Given the description of an element on the screen output the (x, y) to click on. 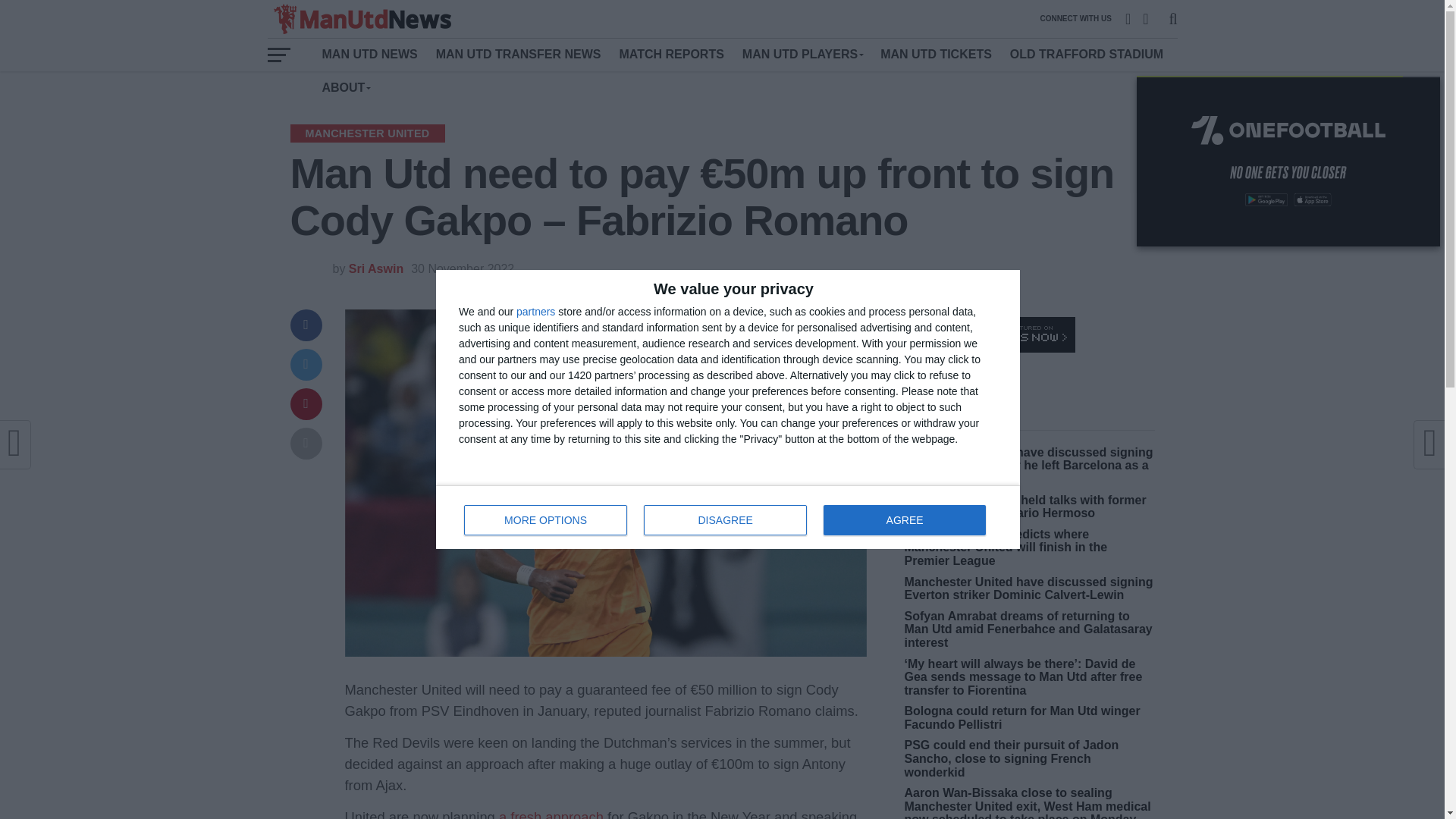
AGREE (904, 520)
MAN UTD NEWS (369, 54)
MAN UTD TRANSFER NEWS (518, 54)
MATCH REPORTS (671, 54)
a fresh approach (727, 516)
Sri Aswin (551, 814)
ABOUT (376, 268)
OLD TRAFFORD STADIUM (345, 87)
partners (1086, 54)
